Given the description of an element on the screen output the (x, y) to click on. 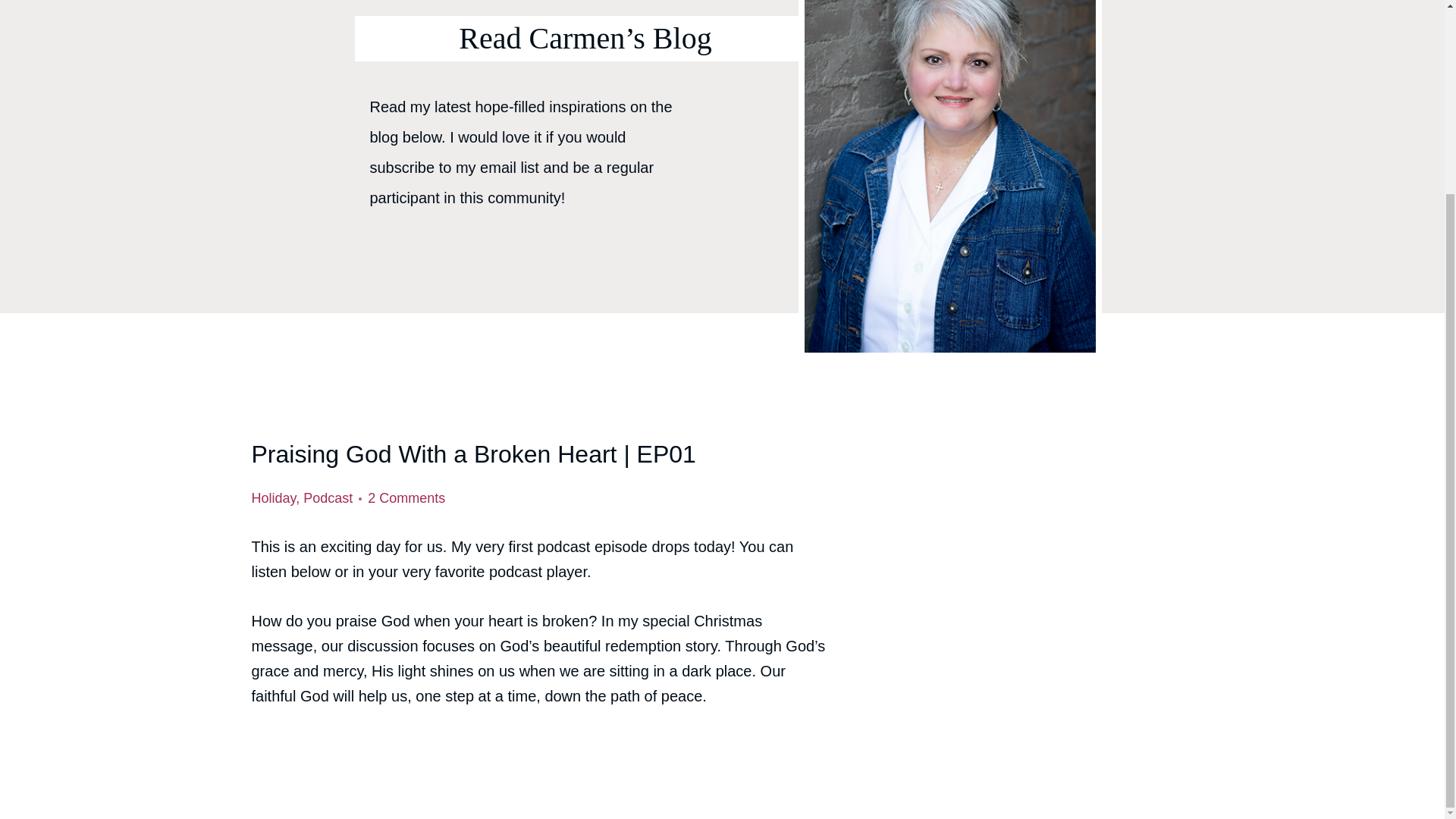
2 Comments (406, 498)
Holiday (274, 498)
2 Comments (406, 498)
Podcast (327, 498)
